Given the description of an element on the screen output the (x, y) to click on. 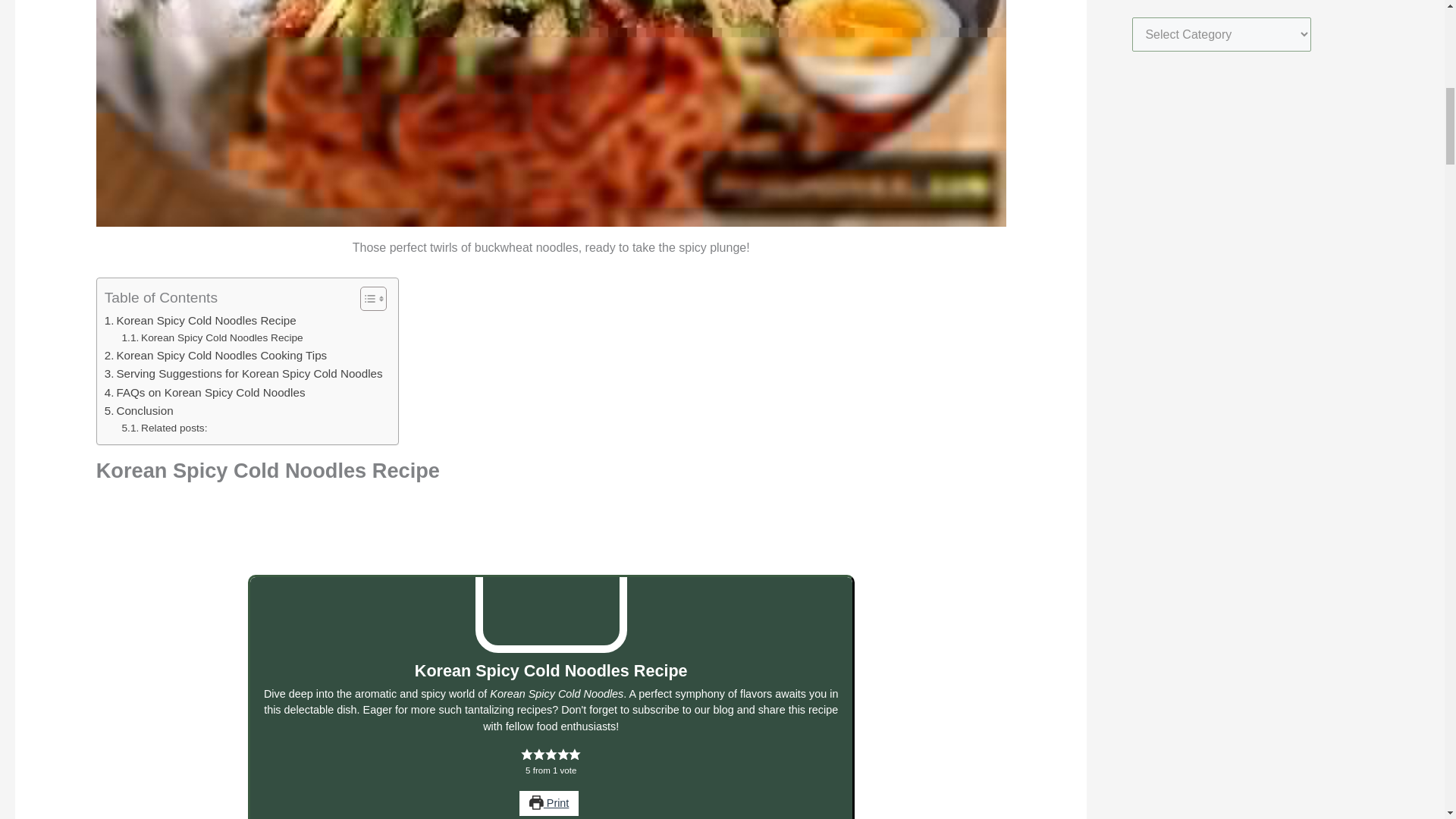
Korean Spicy Cold Noodles Cooking Tips (215, 355)
Korean Spicy Cold Noodles Recipe (212, 338)
Conclusion (138, 411)
FAQs on Korean Spicy Cold Noodles (204, 393)
Korean Spicy Cold Noodles Recipe (200, 321)
Related posts: (165, 428)
Serving Suggestions for Korean Spicy Cold Noodles (243, 373)
